Given the description of an element on the screen output the (x, y) to click on. 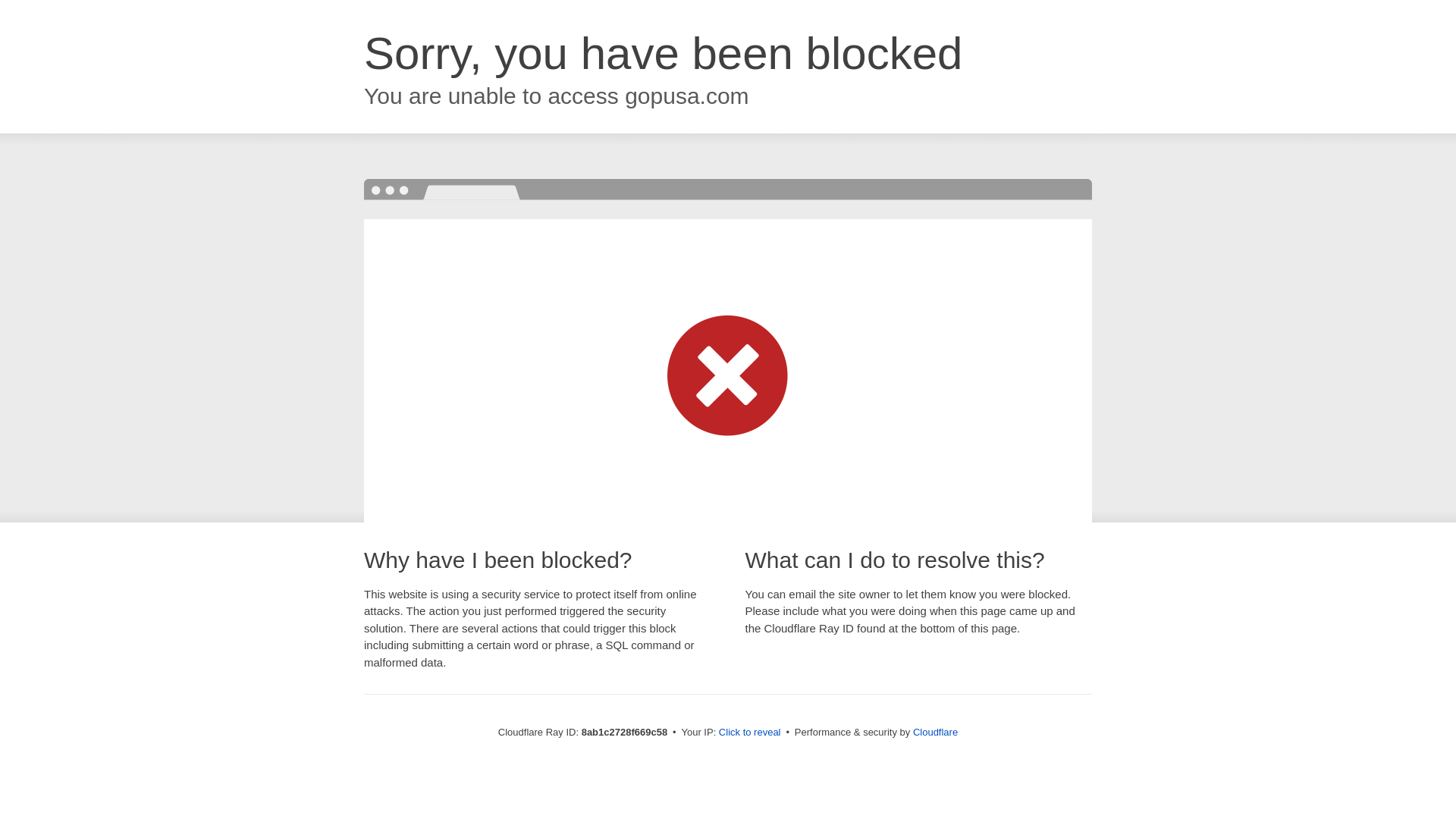
Click to reveal (749, 732)
Cloudflare (935, 731)
